Given the description of an element on the screen output the (x, y) to click on. 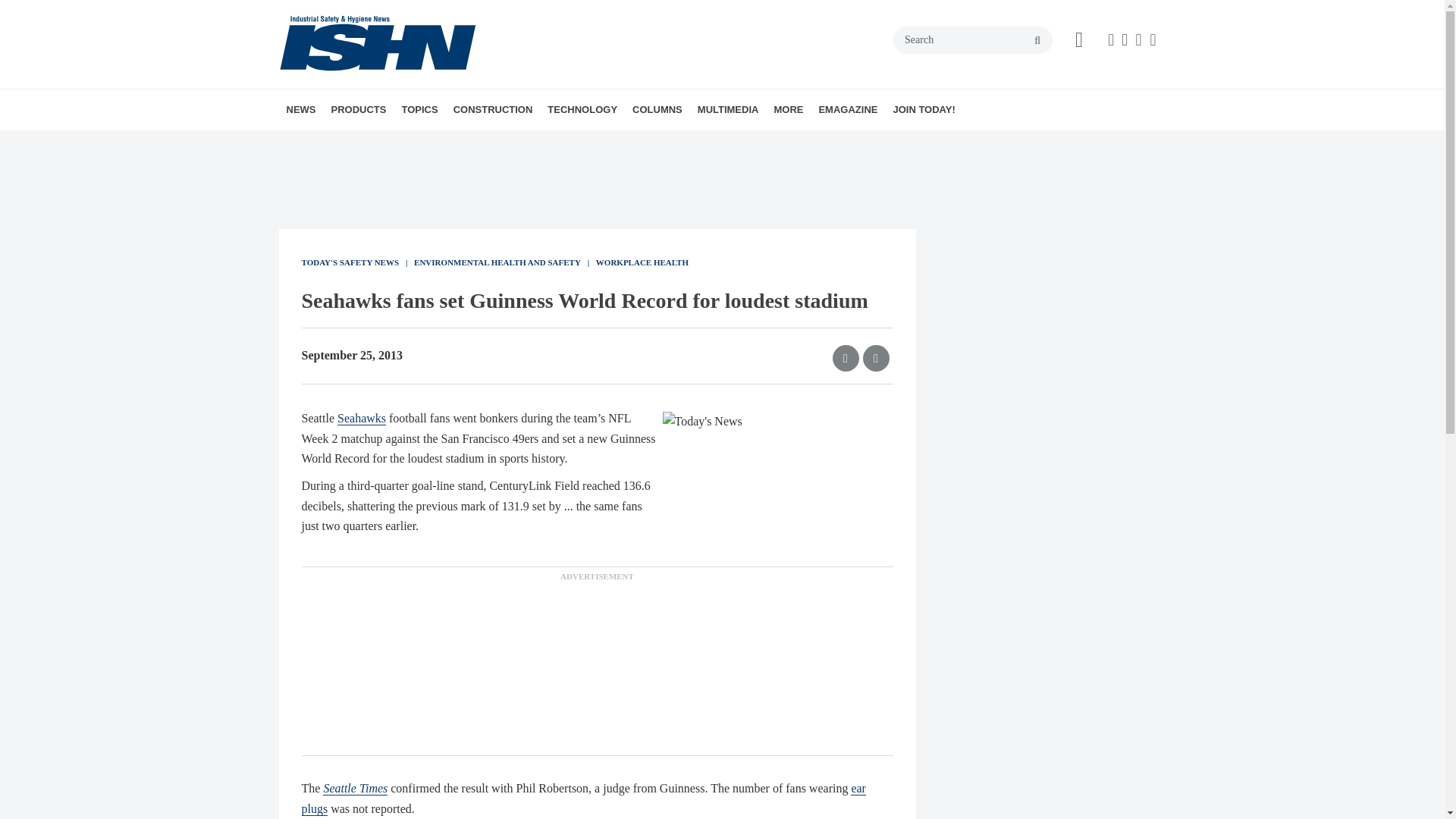
CONSTRUCTION (492, 109)
TECHNOLOGY (582, 109)
search (1037, 40)
VIDEOS (801, 142)
DAVE JOHNSON'S WIDE WORLD OF SAFETY PODCAST (791, 151)
COLUMNS (657, 109)
EDITORIAL COMMENTS (736, 142)
ENVIRONMENTAL HEALTH AND SAFETY (488, 151)
MORE TOPICS (522, 142)
OCCUPATIONAL SAFETY (515, 142)
